Given the description of an element on the screen output the (x, y) to click on. 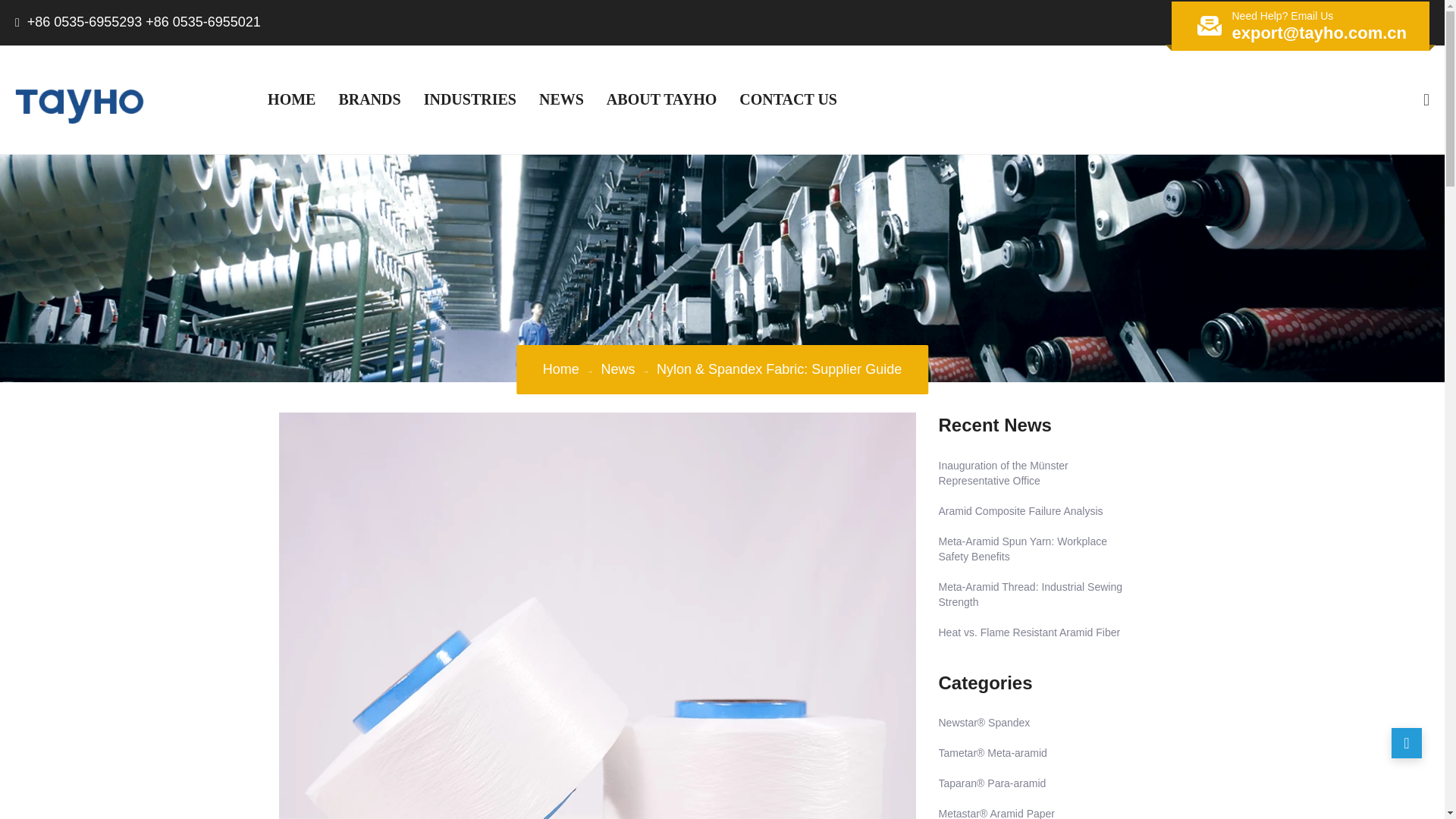
BRANDS (369, 99)
NEWS (561, 99)
ABOUT TAYHO (661, 99)
CONTACT US (788, 99)
HOME (291, 99)
INDUSTRIES (469, 99)
